Given the description of an element on the screen output the (x, y) to click on. 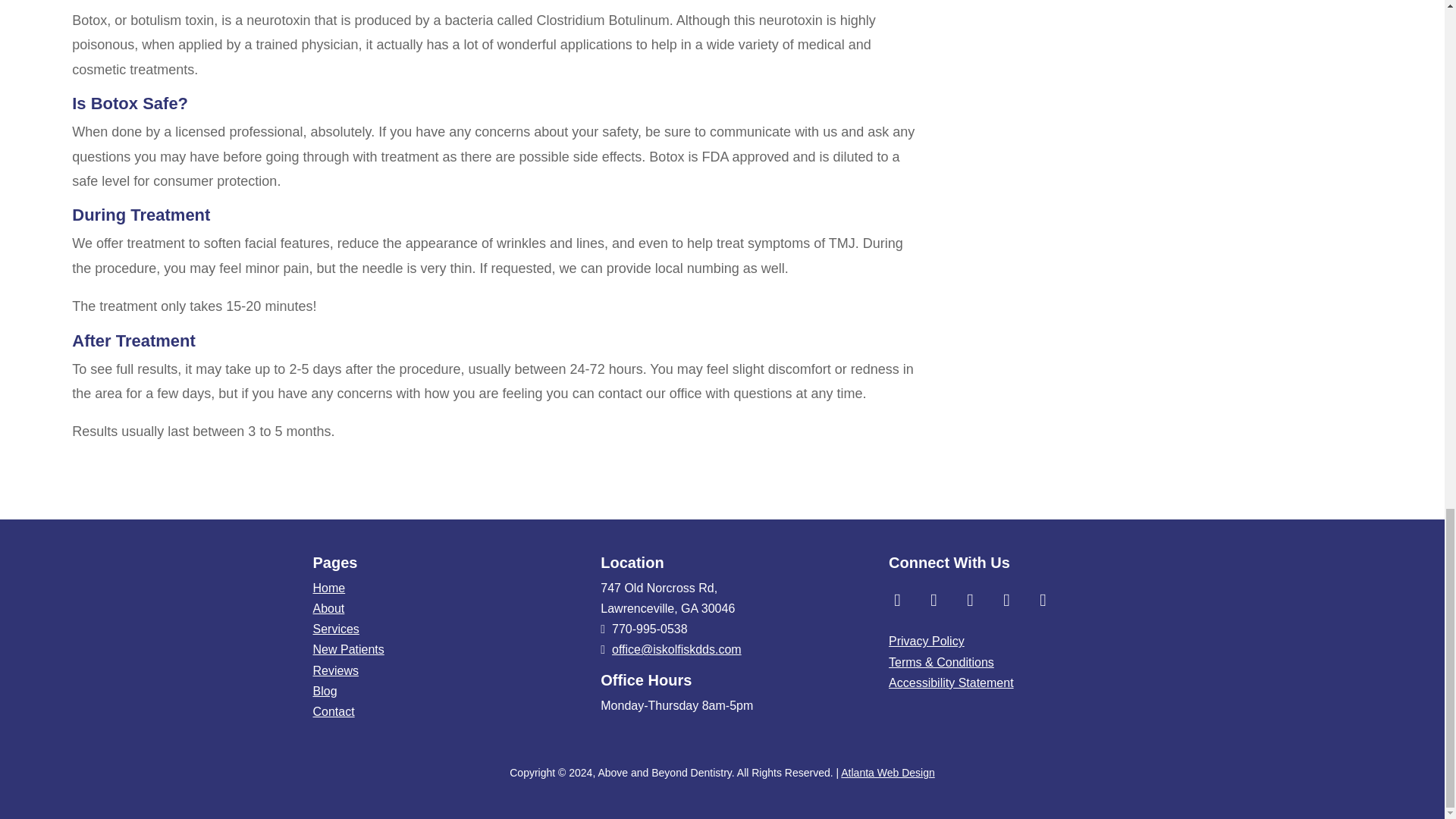
About (328, 608)
Home (329, 587)
Services (335, 628)
